Given the description of an element on the screen output the (x, y) to click on. 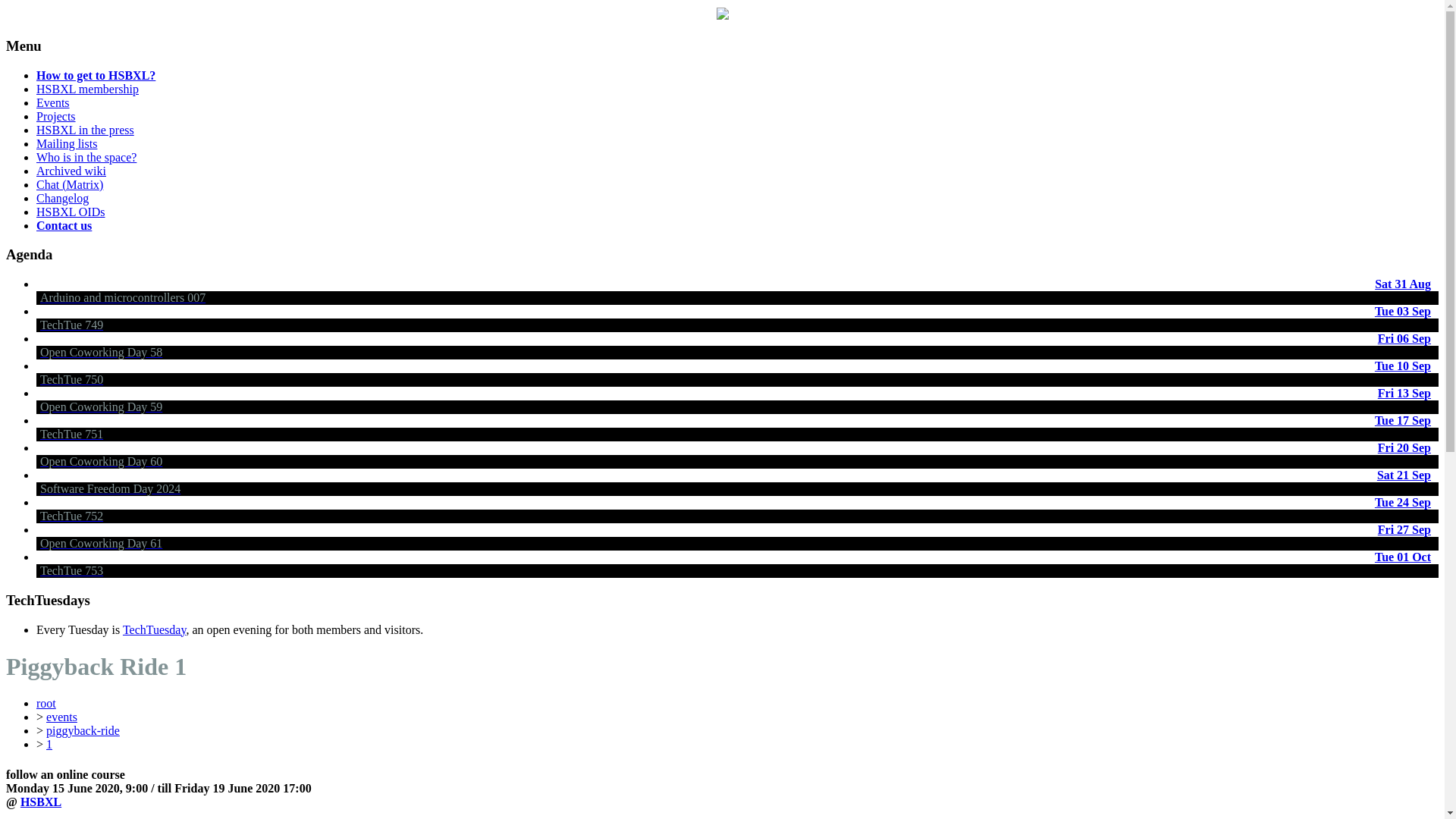
events (61, 716)
Who is in the space? (86, 156)
Changelog (62, 197)
HSBXL membership (87, 88)
How to get to HSBXL? (95, 74)
HSBXL OIDs (70, 211)
HSBXL (40, 801)
TechTuesday (154, 629)
Mailing lists (66, 143)
root (46, 703)
